Given the description of an element on the screen output the (x, y) to click on. 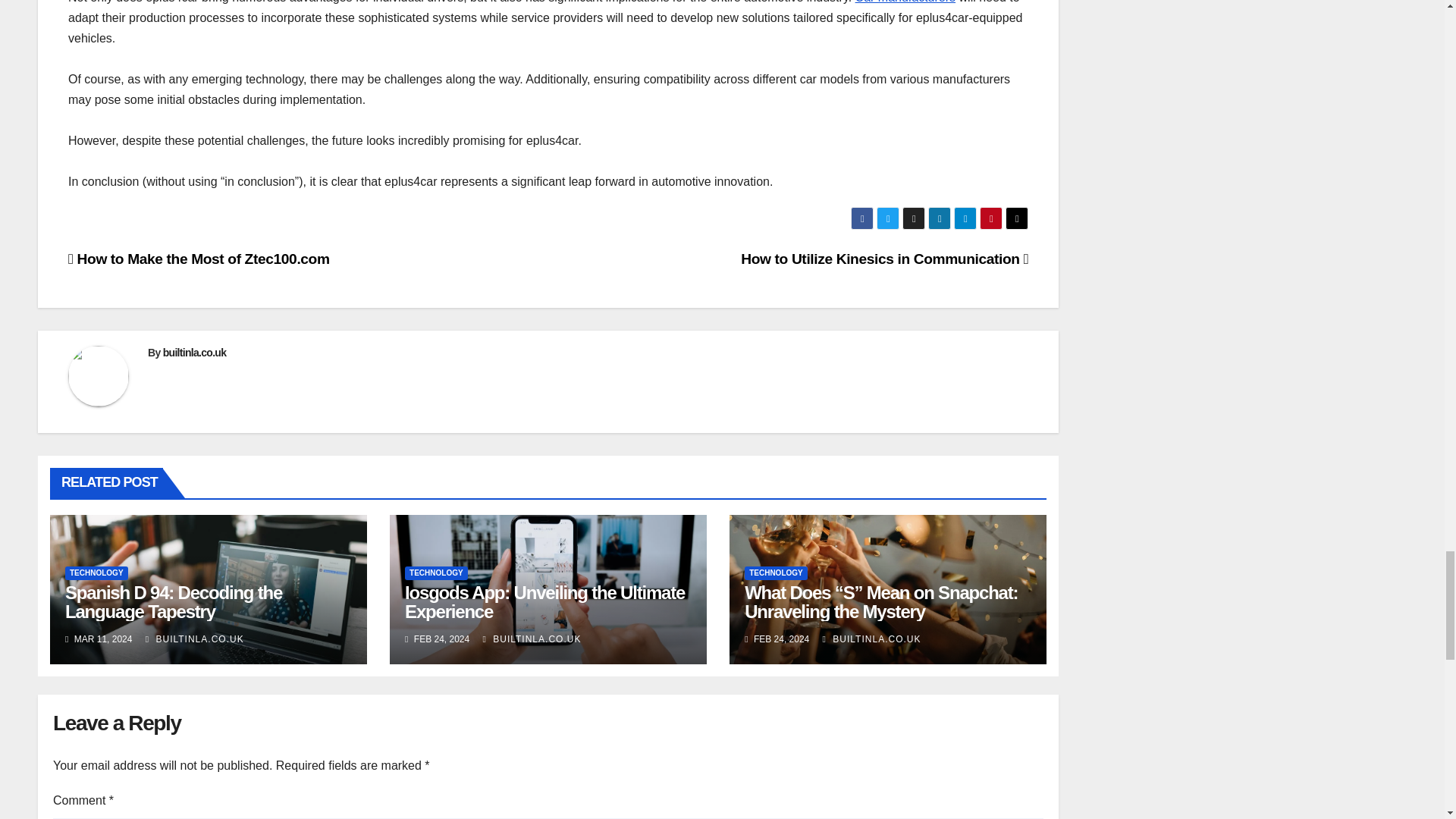
How to Utilize Kinesics in Communication (884, 258)
Car manufacturers (906, 2)
How to Make the Most of Ztec100.com (199, 258)
